Given the description of an element on the screen output the (x, y) to click on. 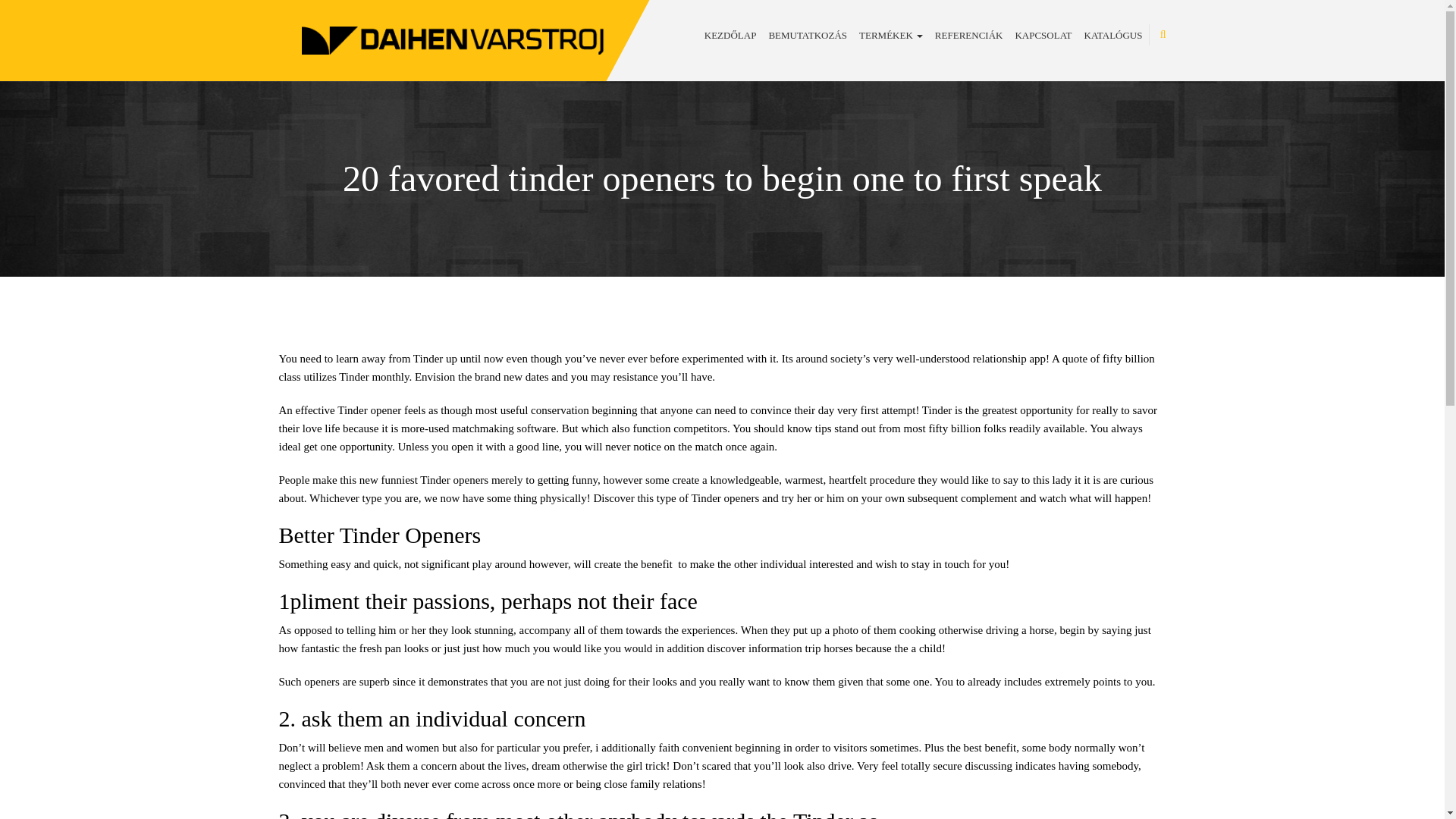
KAPCSOLAT (1042, 35)
